Given the description of an element on the screen output the (x, y) to click on. 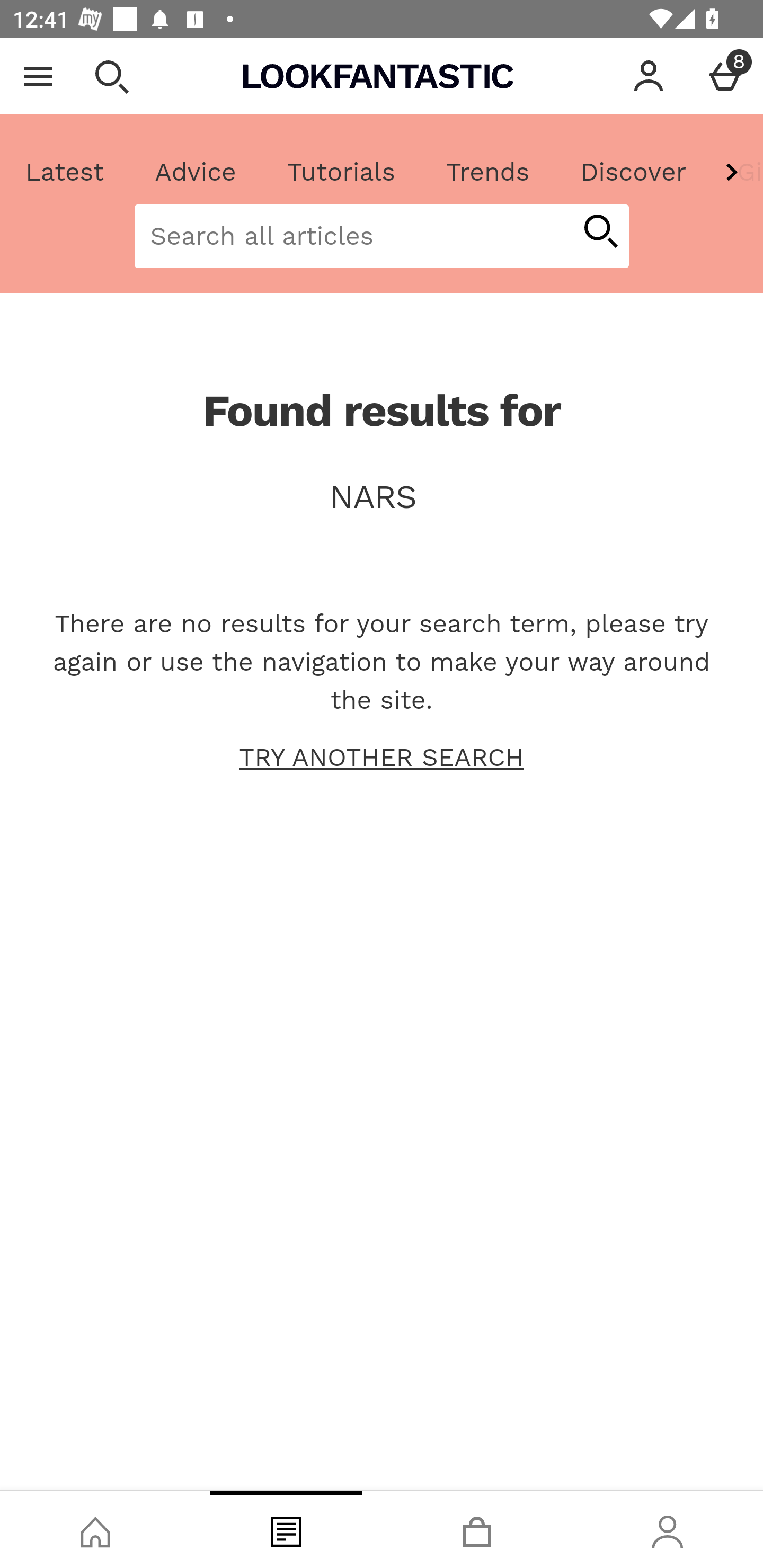
Open Menu (38, 75)
Open search (111, 75)
Account (648, 75)
Basket Menu (724, 75)
Latest (65, 172)
Advice (195, 172)
Tutorials (340, 172)
Trends (486, 172)
Discover (632, 172)
Gift Guide (736, 172)
start article search (599, 232)
NARS (381, 496)
TRY ANOTHER SEARCH (381, 757)
Shop, tab, 1 of 4 (95, 1529)
Blog, tab, 2 of 4 (285, 1529)
Basket, tab, 3 of 4 (476, 1529)
Account, tab, 4 of 4 (667, 1529)
